Given the description of an element on the screen output the (x, y) to click on. 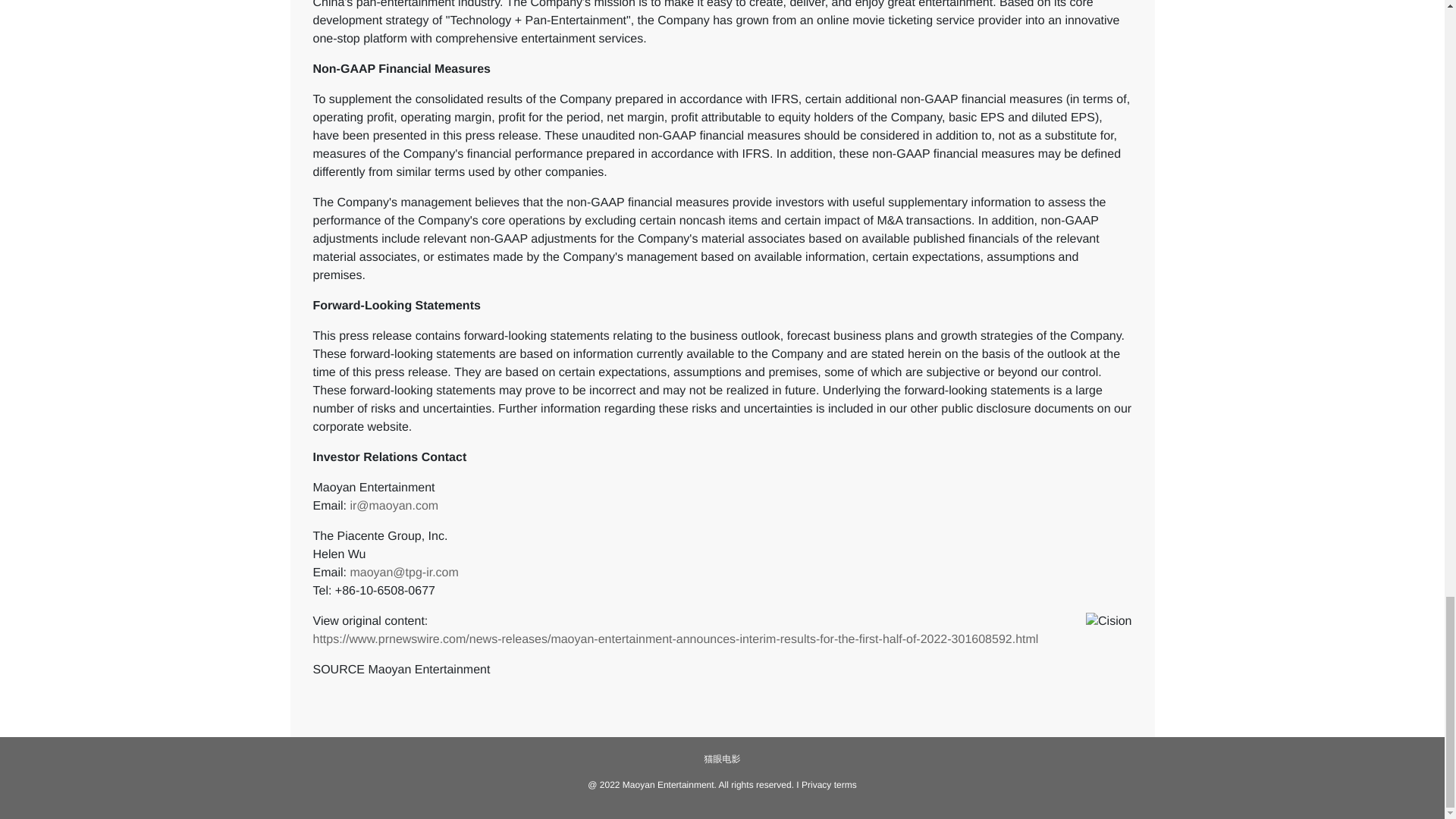
Privacy terms (829, 784)
Cision (1108, 635)
